Given the description of an element on the screen output the (x, y) to click on. 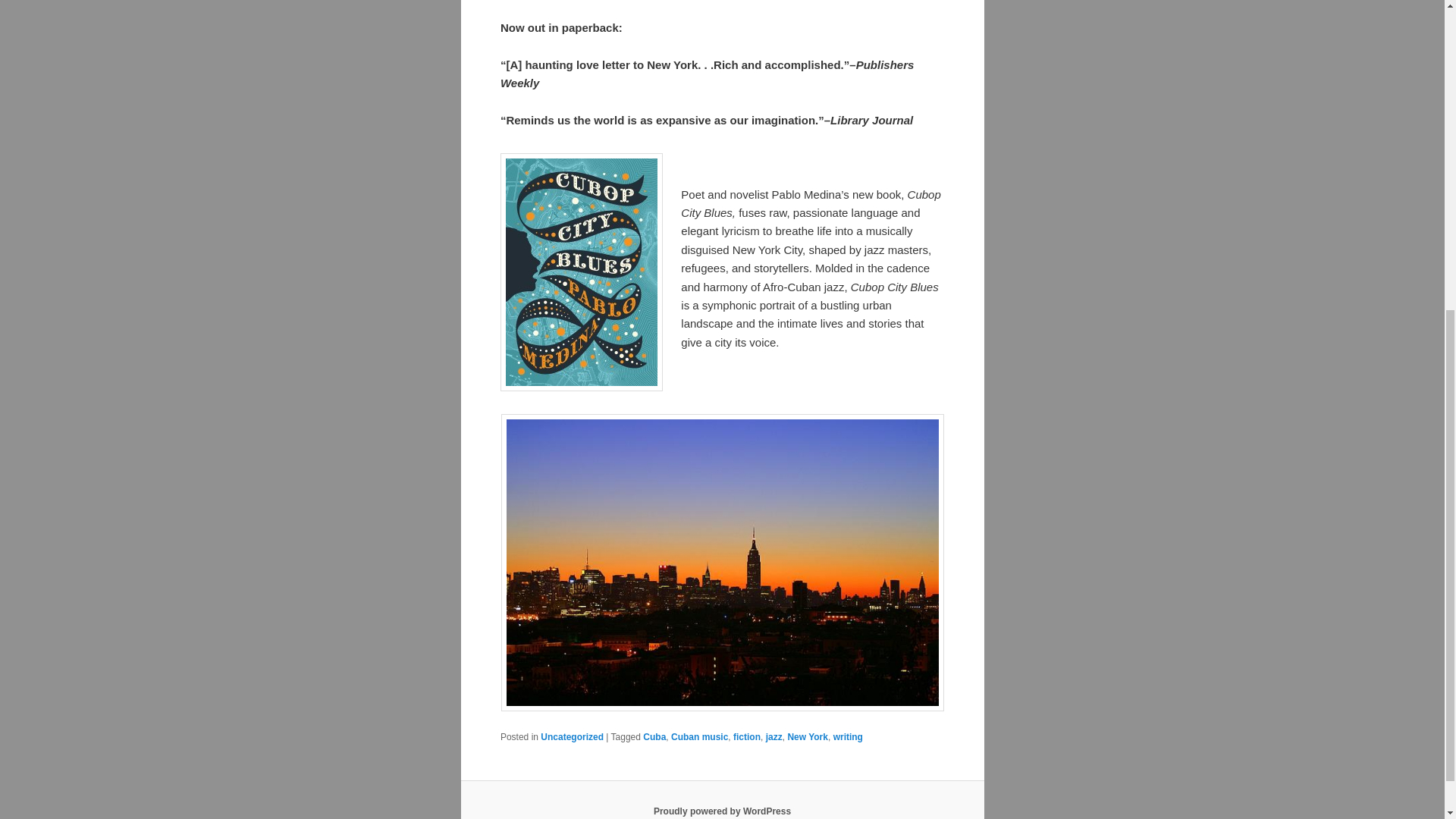
manhattan dusk 2 (721, 562)
fiction (746, 737)
New York (807, 737)
Uncategorized (572, 737)
Semantic Personal Publishing Platform (721, 810)
Cuba (654, 737)
writing (847, 737)
jazz (774, 737)
View all posts in Uncategorized (572, 737)
Proudly powered by WordPress (721, 810)
